Given the description of an element on the screen output the (x, y) to click on. 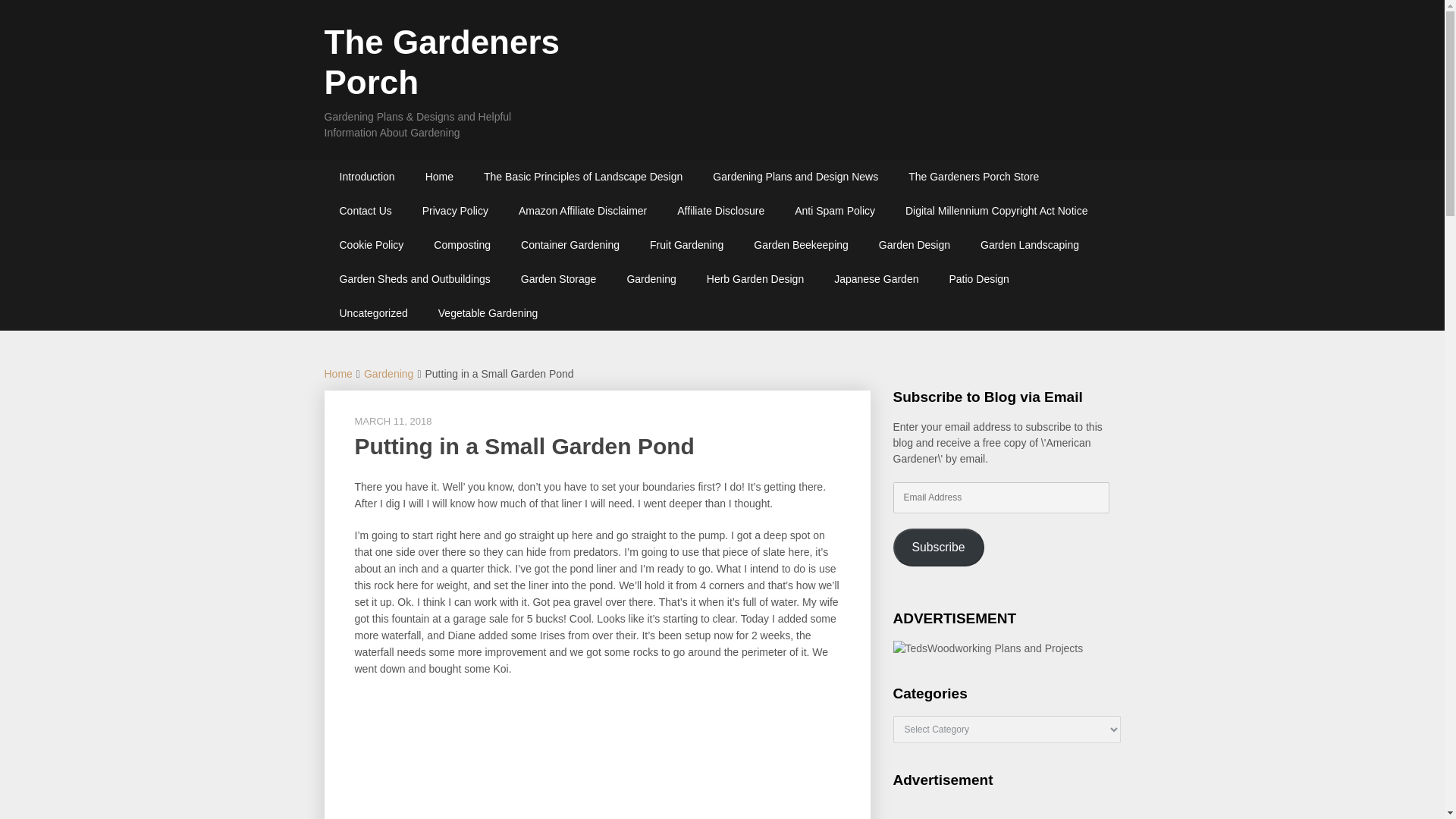
Garden Landscaping (1029, 245)
Patio Design (978, 279)
Composting (462, 245)
Contact Us (365, 211)
Affiliate Disclosure (720, 211)
Container Gardening (569, 245)
Uncategorized (373, 313)
Anti Spam Policy (833, 211)
Amazon Affiliate Disclaimer (582, 211)
Garden Storage (558, 279)
